Given the description of an element on the screen output the (x, y) to click on. 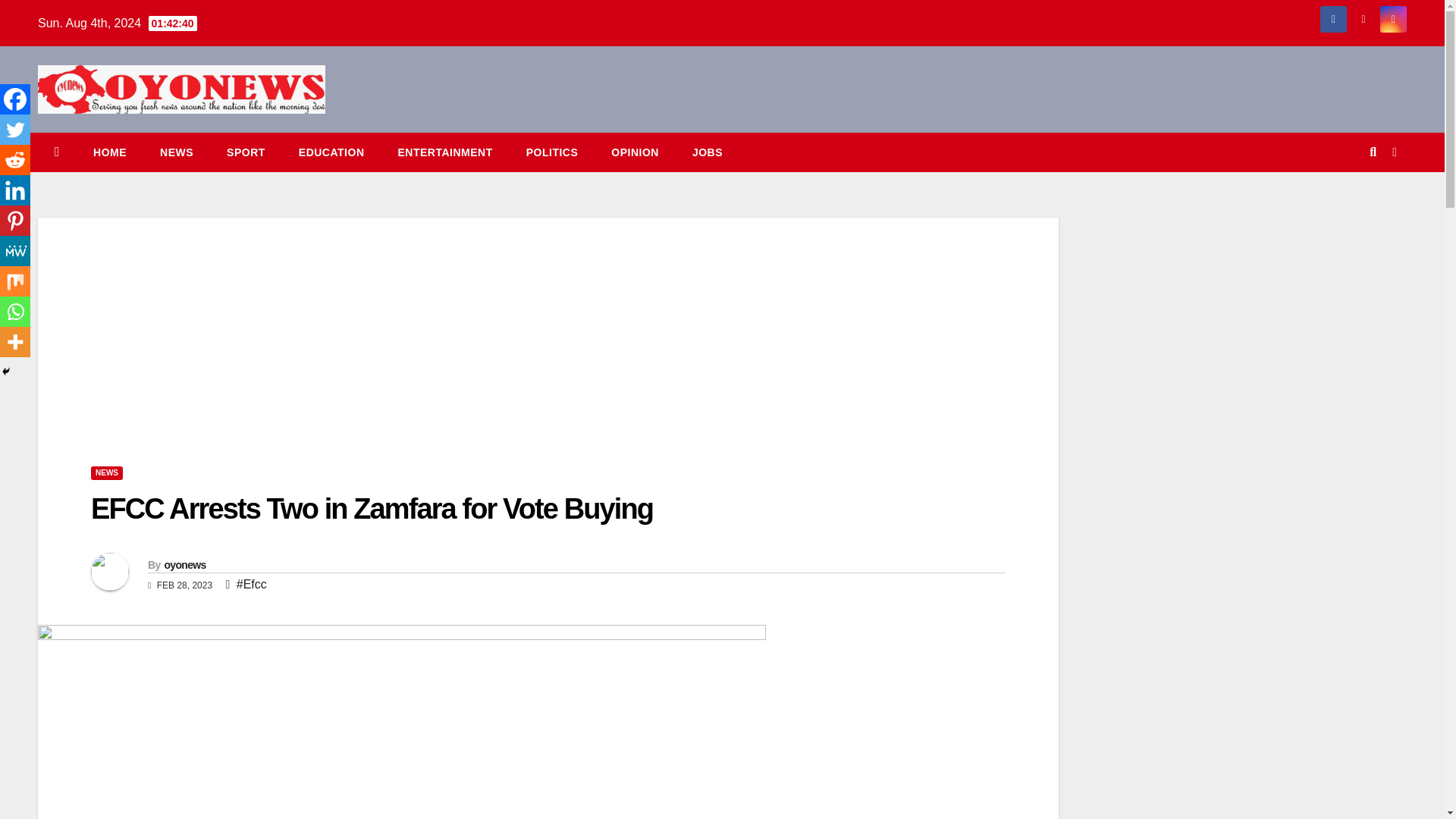
ENTERTAINMENT (444, 151)
NEWS (175, 151)
Home (109, 151)
oyonews (184, 564)
news (175, 151)
POLITICS (552, 151)
SPORT (245, 151)
EDUCATION (331, 151)
jobs (707, 151)
HOME (109, 151)
opinion (634, 151)
JOBS (707, 151)
education (331, 151)
sport (245, 151)
